Given the description of an element on the screen output the (x, y) to click on. 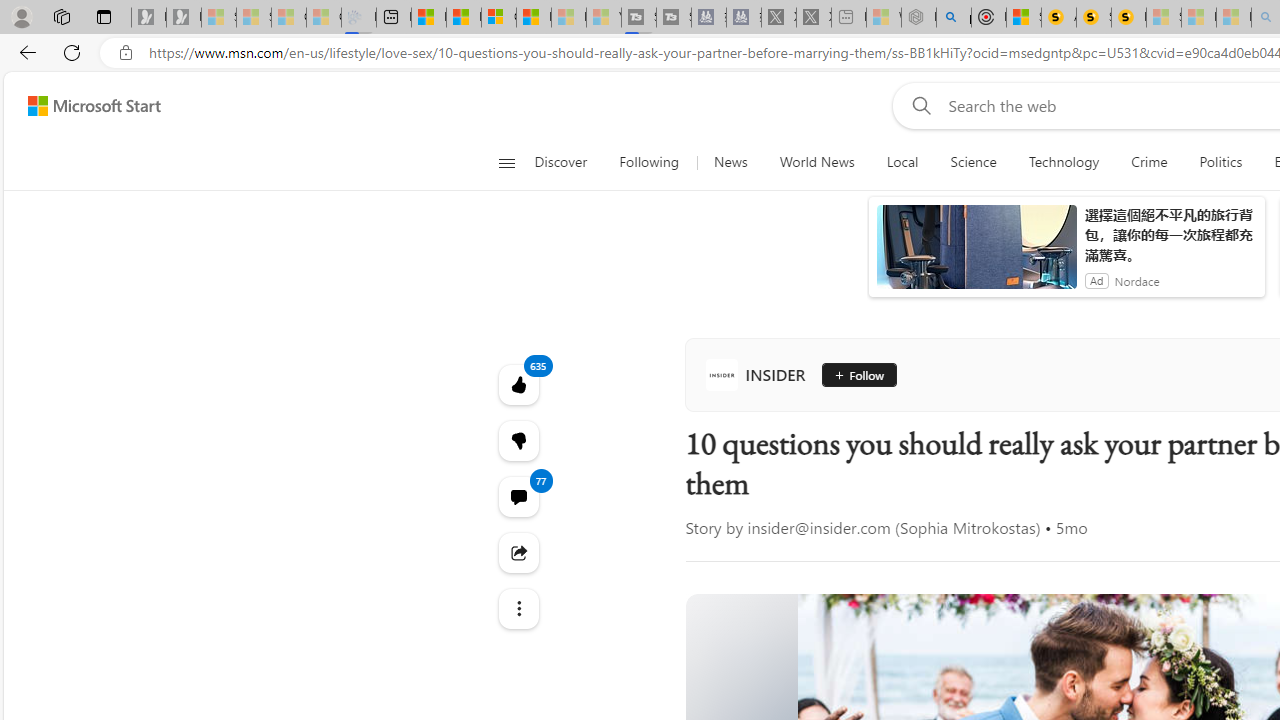
Local (902, 162)
Politics (1220, 162)
World News (817, 162)
INSIDER (759, 374)
anim-content (975, 255)
Michelle Starr, Senior Journalist at ScienceAlert (1128, 17)
